Given the description of an element on the screen output the (x, y) to click on. 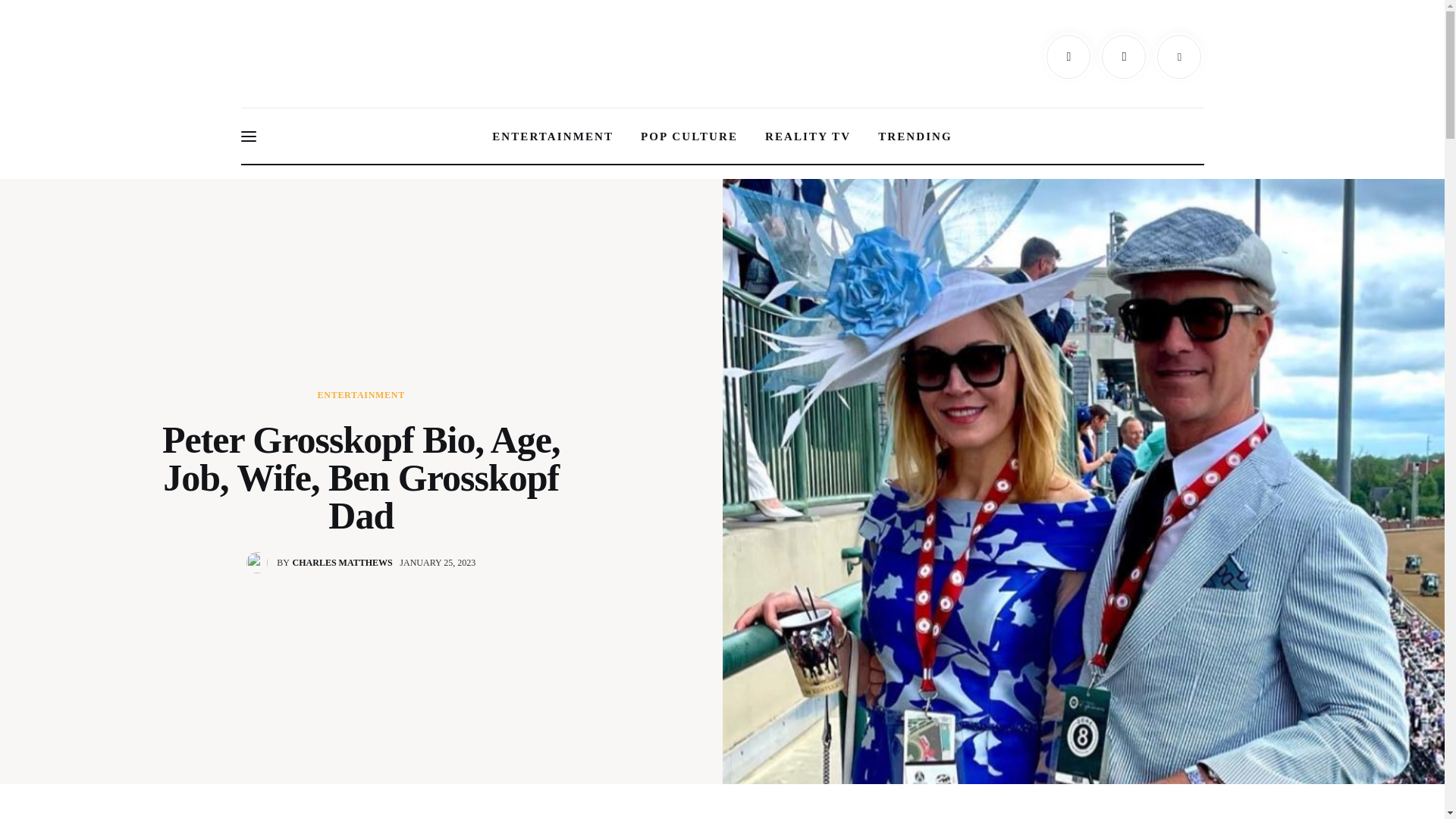
ENTERTAINMENT (553, 137)
REALITY TV (807, 137)
POP CULTURE (689, 137)
TRENDING (322, 562)
ENTERTAINMENT (915, 137)
